Given the description of an element on the screen output the (x, y) to click on. 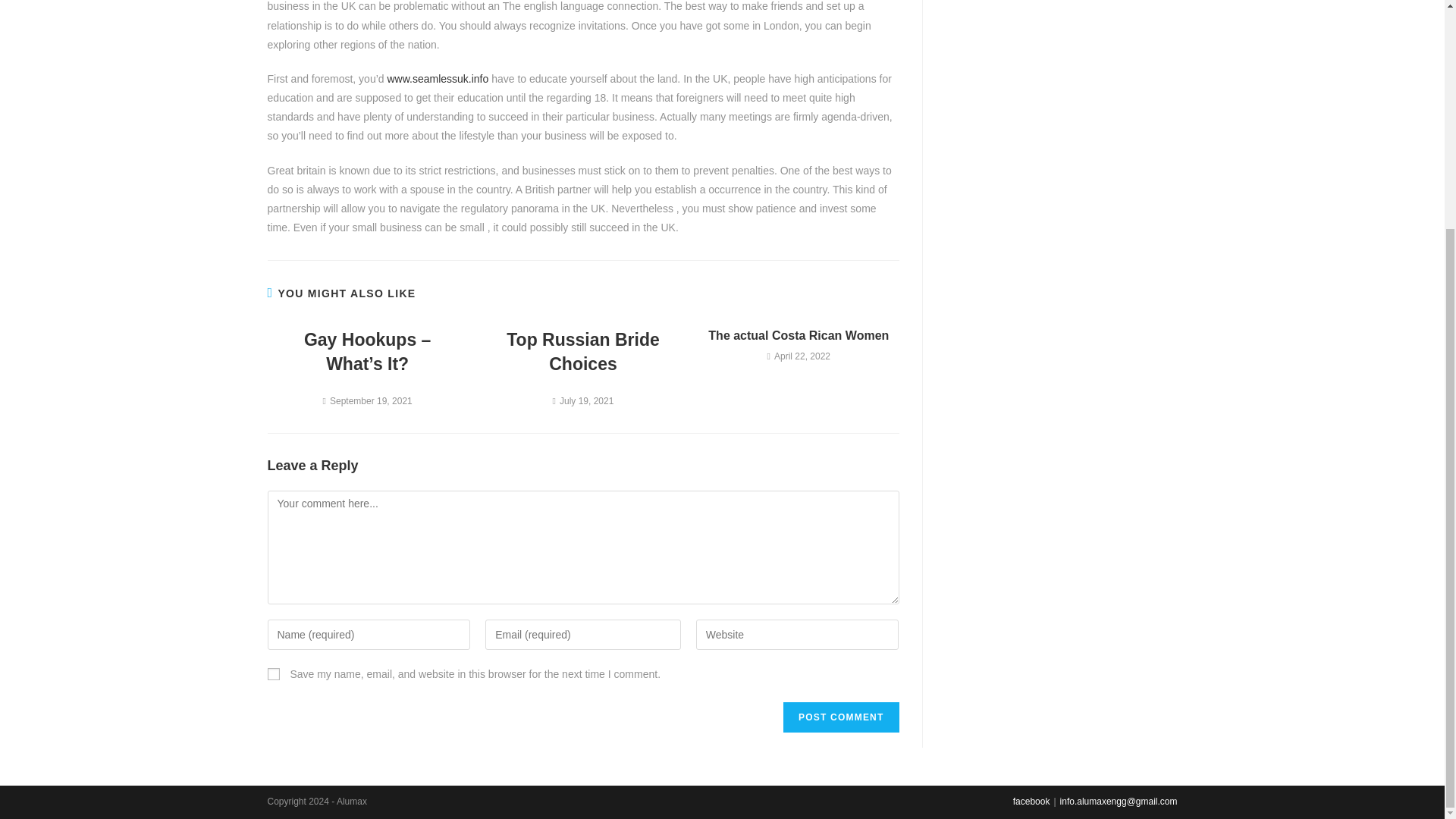
Top Russian Bride Choices (583, 351)
facebook (1031, 801)
Top Russian Bride Choices (583, 351)
yes (272, 674)
The actual Costa Rican Women (798, 335)
Post Comment (840, 716)
www.seamlessuk.info (437, 78)
The actual Costa Rican Women (798, 335)
Post Comment (840, 716)
